Given the description of an element on the screen output the (x, y) to click on. 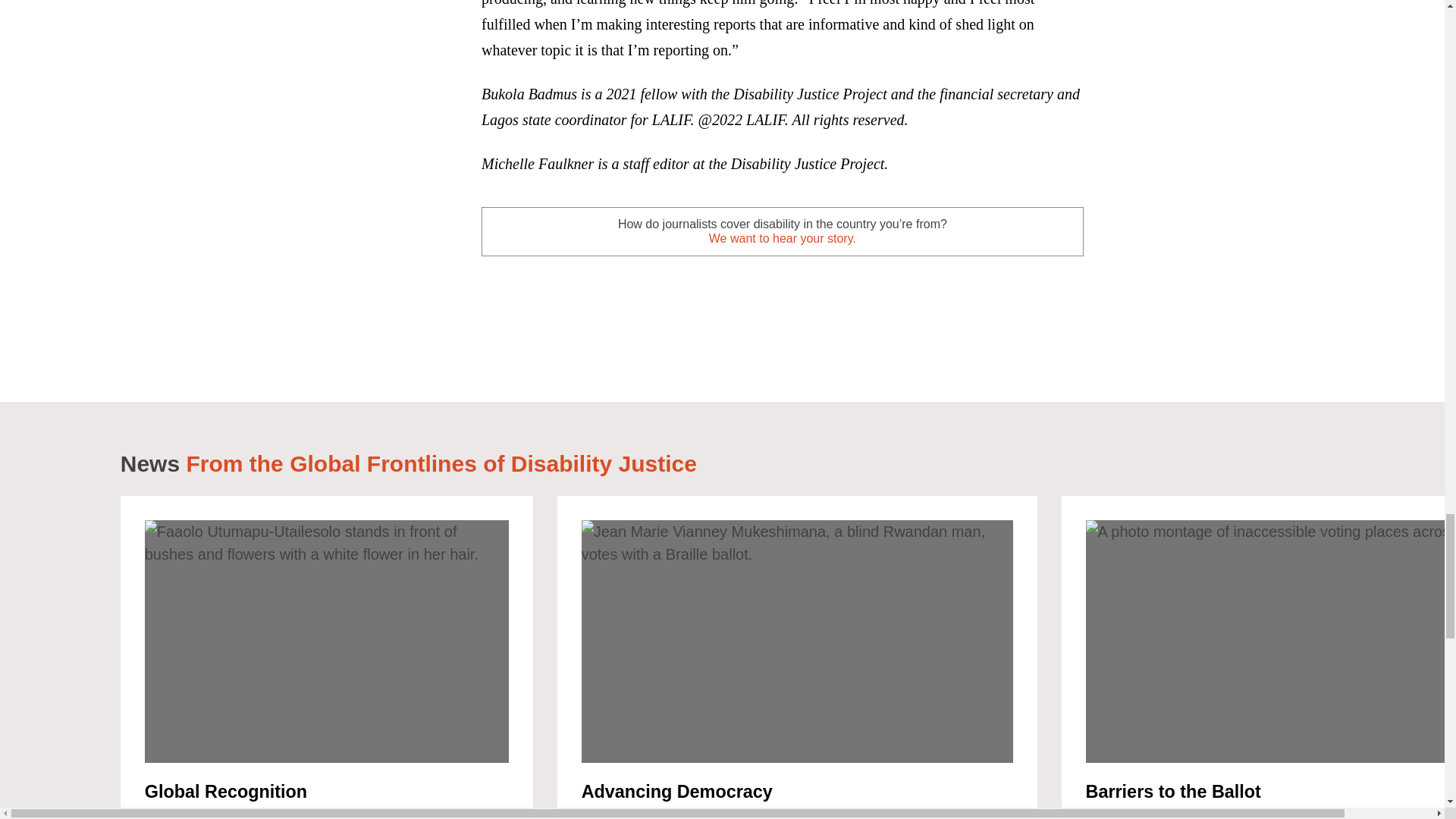
Global Recognition (225, 791)
Barriers to the Ballot (1173, 791)
Advancing Democracy (676, 791)
